Given the description of an element on the screen output the (x, y) to click on. 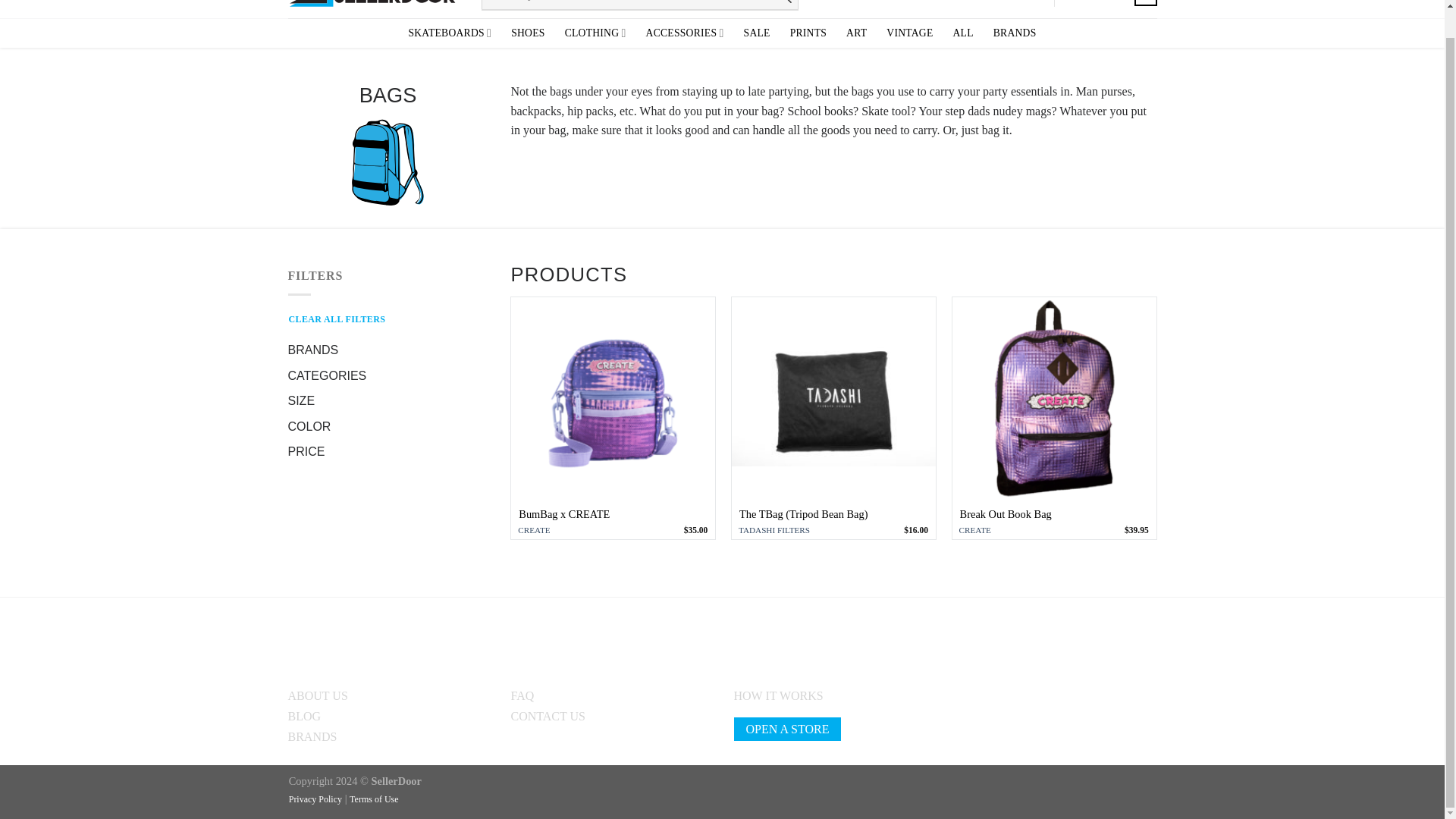
SHOES (527, 32)
PRINTS (808, 32)
search (781, 4)
VINTAGE (909, 32)
BRANDS (1014, 32)
SellerDoor - Skateboarding's Marketplace (373, 7)
search (781, 4)
CLOTHING (595, 32)
SALE (757, 32)
SKATEBOARDS (449, 32)
